Given the description of an element on the screen output the (x, y) to click on. 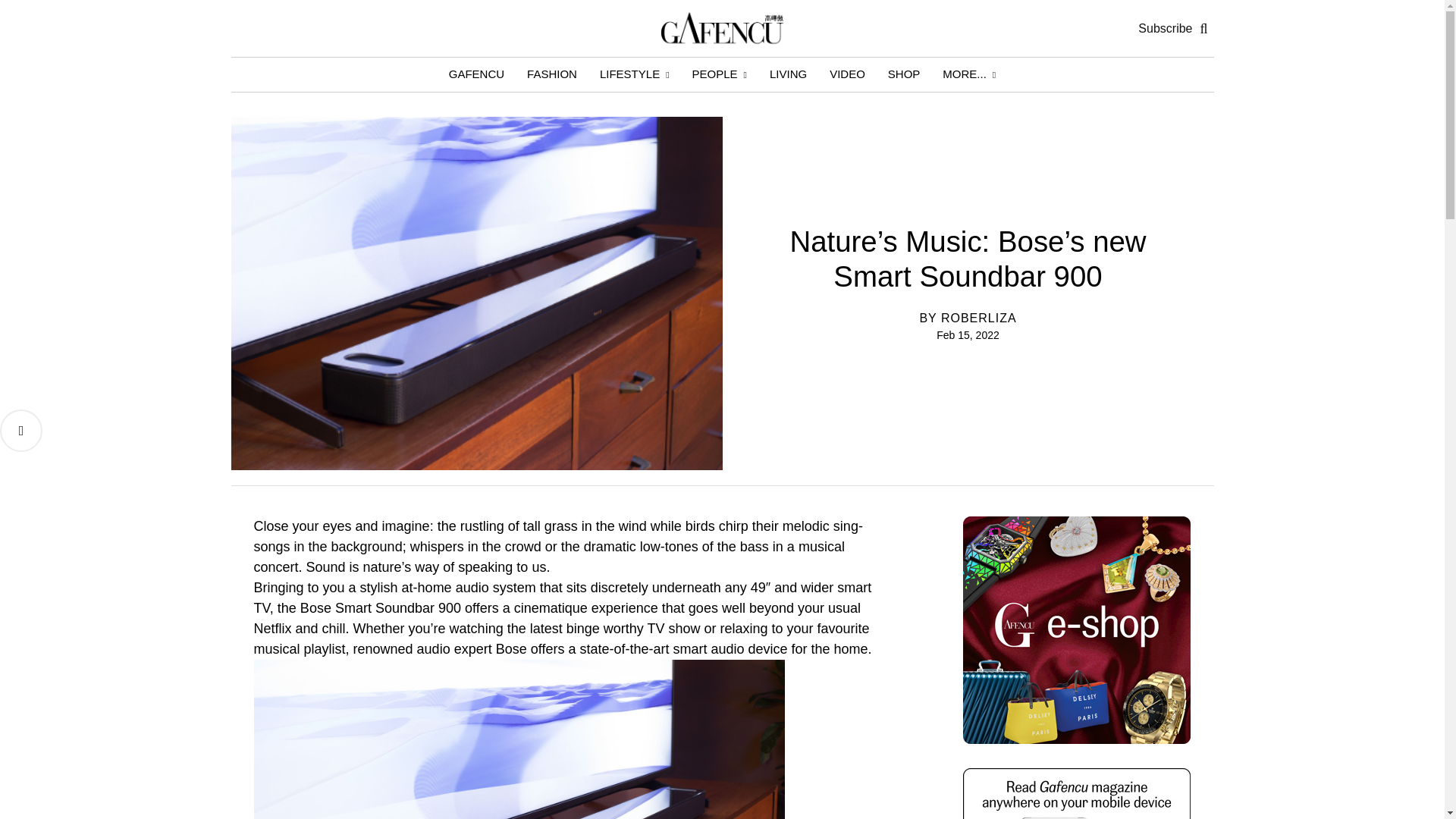
SHOP (903, 73)
MORE... (969, 73)
GAFENCU (476, 73)
LIVING (788, 73)
FASHION (551, 73)
LIFESTYLE (634, 73)
PEOPLE (719, 73)
Subscribe (1165, 28)
VIDEO (847, 73)
